Given the description of an element on the screen output the (x, y) to click on. 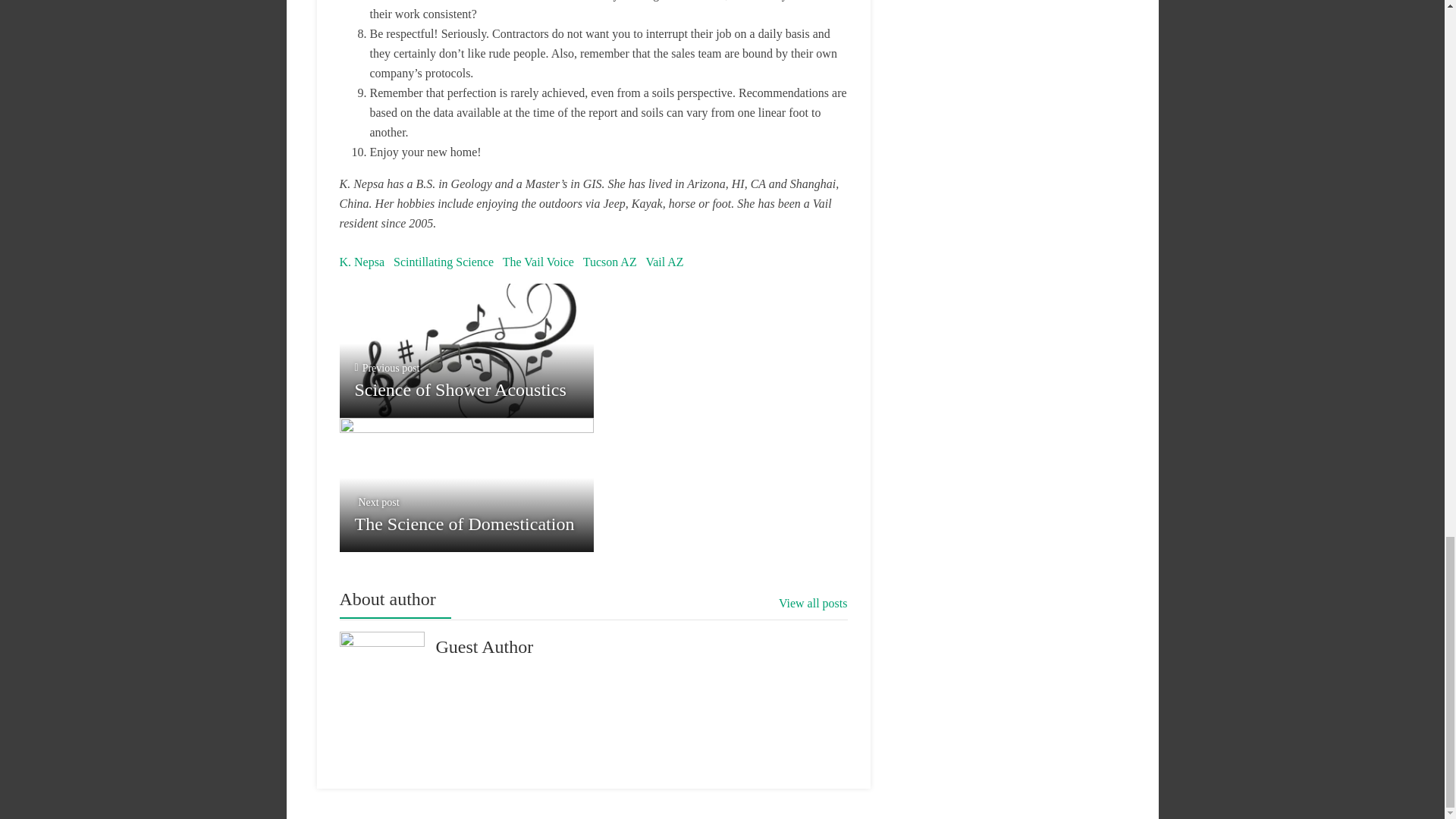
Vail AZ (663, 261)
View all posts (812, 603)
Tucson AZ (610, 261)
The Vail Voice (466, 350)
Scintillating Science (537, 261)
K. Nepsa (443, 261)
